Given the description of an element on the screen output the (x, y) to click on. 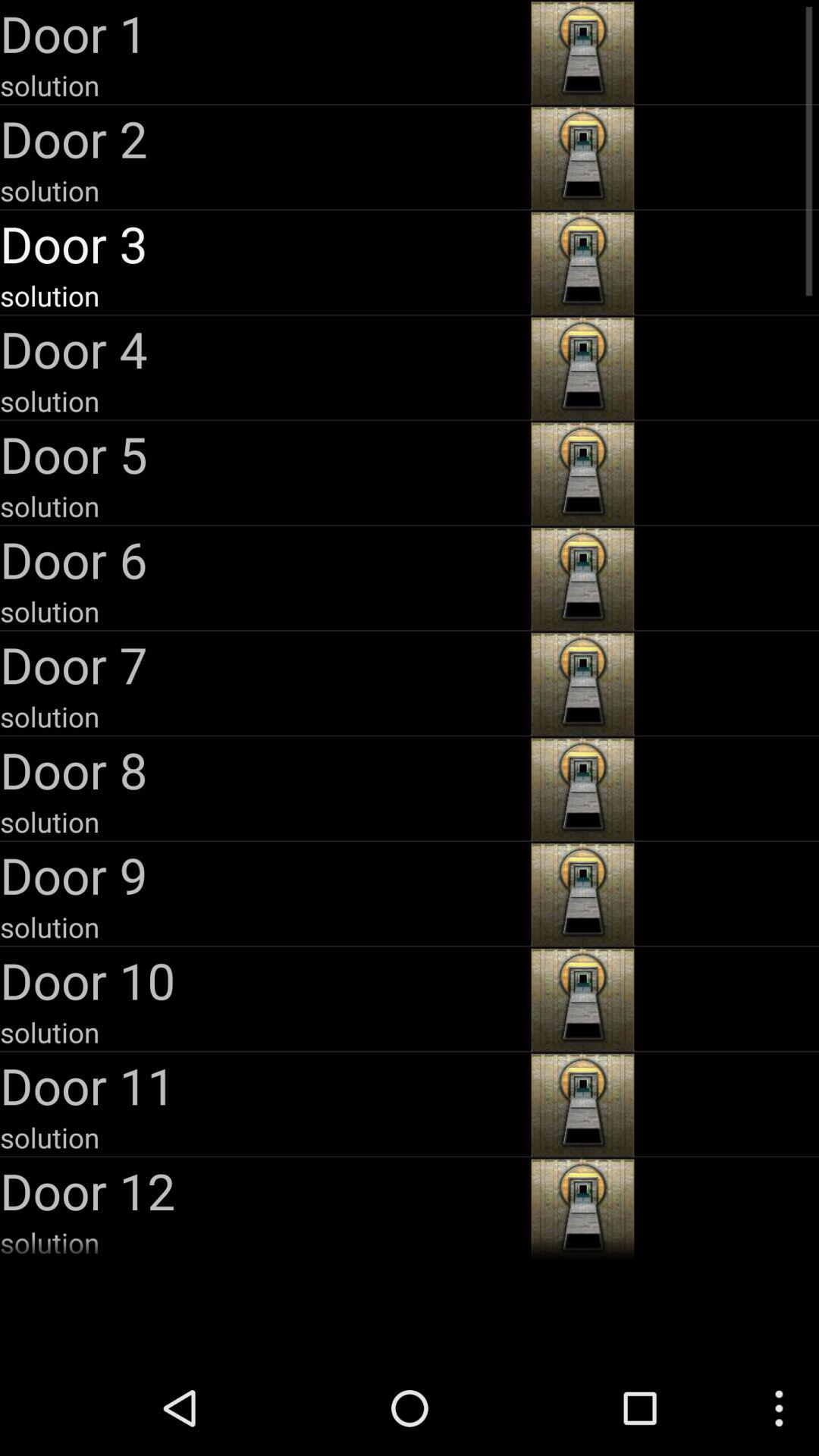
click door 3 (263, 243)
